Given the description of an element on the screen output the (x, y) to click on. 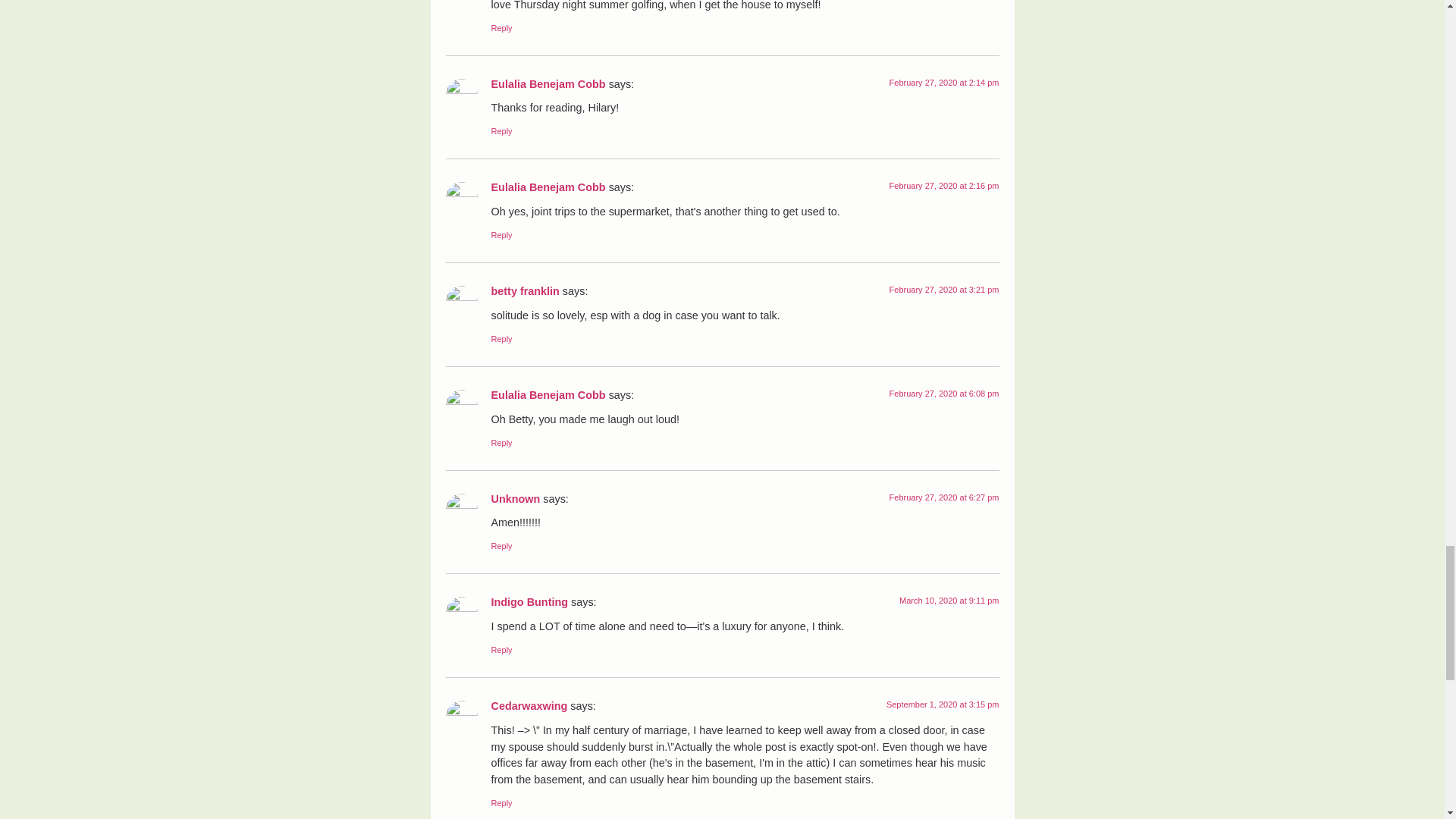
Reply (502, 130)
betty franklin (525, 291)
February 27, 2020 at 6:08 pm (943, 393)
Reply (502, 234)
February 27, 2020 at 2:16 pm (943, 185)
Eulalia Benejam Cobb (548, 395)
September 1, 2020 at 3:15 pm (942, 704)
Indigo Bunting (530, 602)
Unknown (516, 499)
Cedarwaxwing (529, 705)
